Given the description of an element on the screen output the (x, y) to click on. 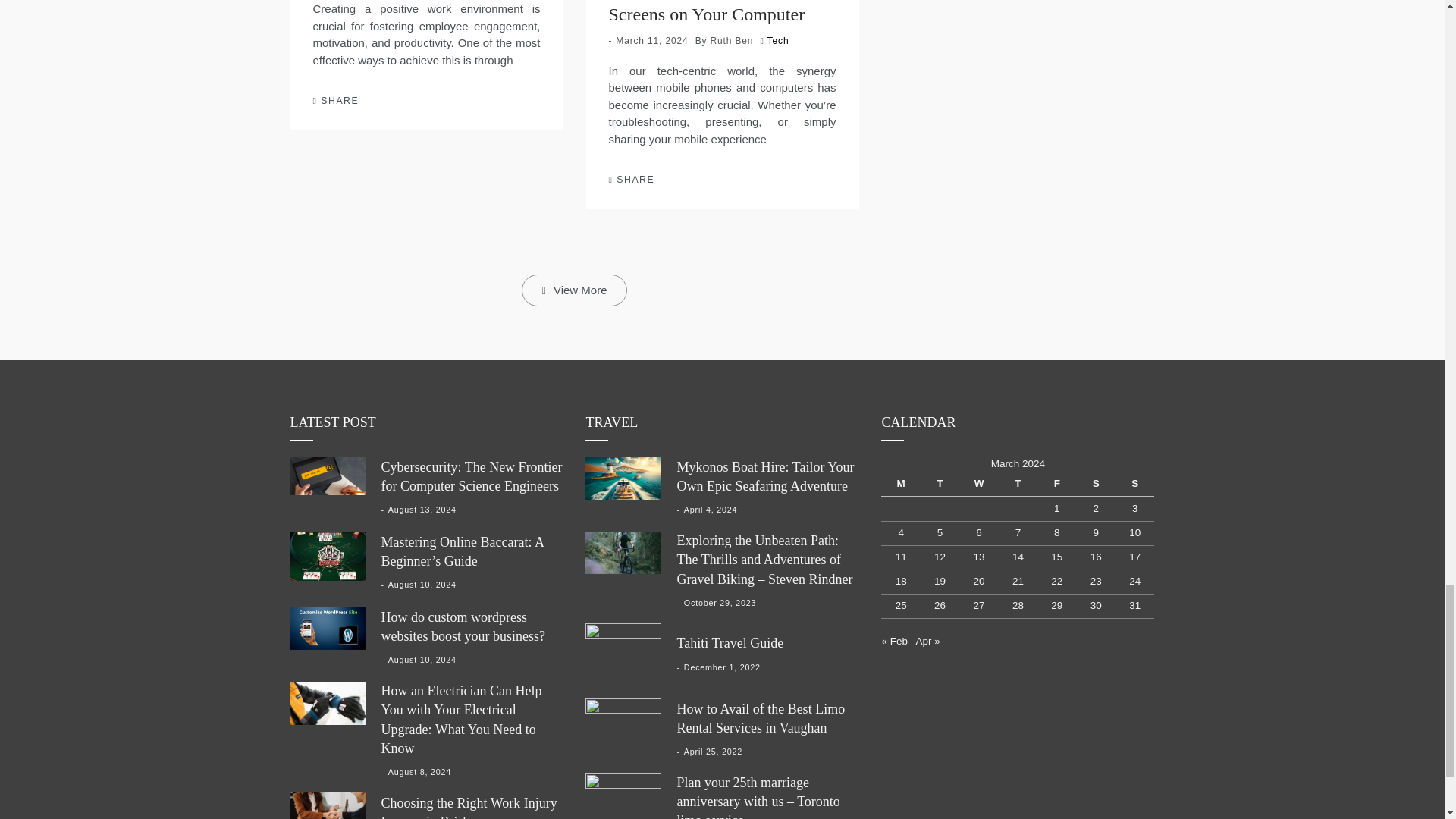
Friday (1055, 483)
Wednesday (978, 483)
Saturday (1096, 483)
Thursday (1017, 483)
Tuesday (939, 483)
Sunday (1134, 483)
Monday (900, 483)
